Given the description of an element on the screen output the (x, y) to click on. 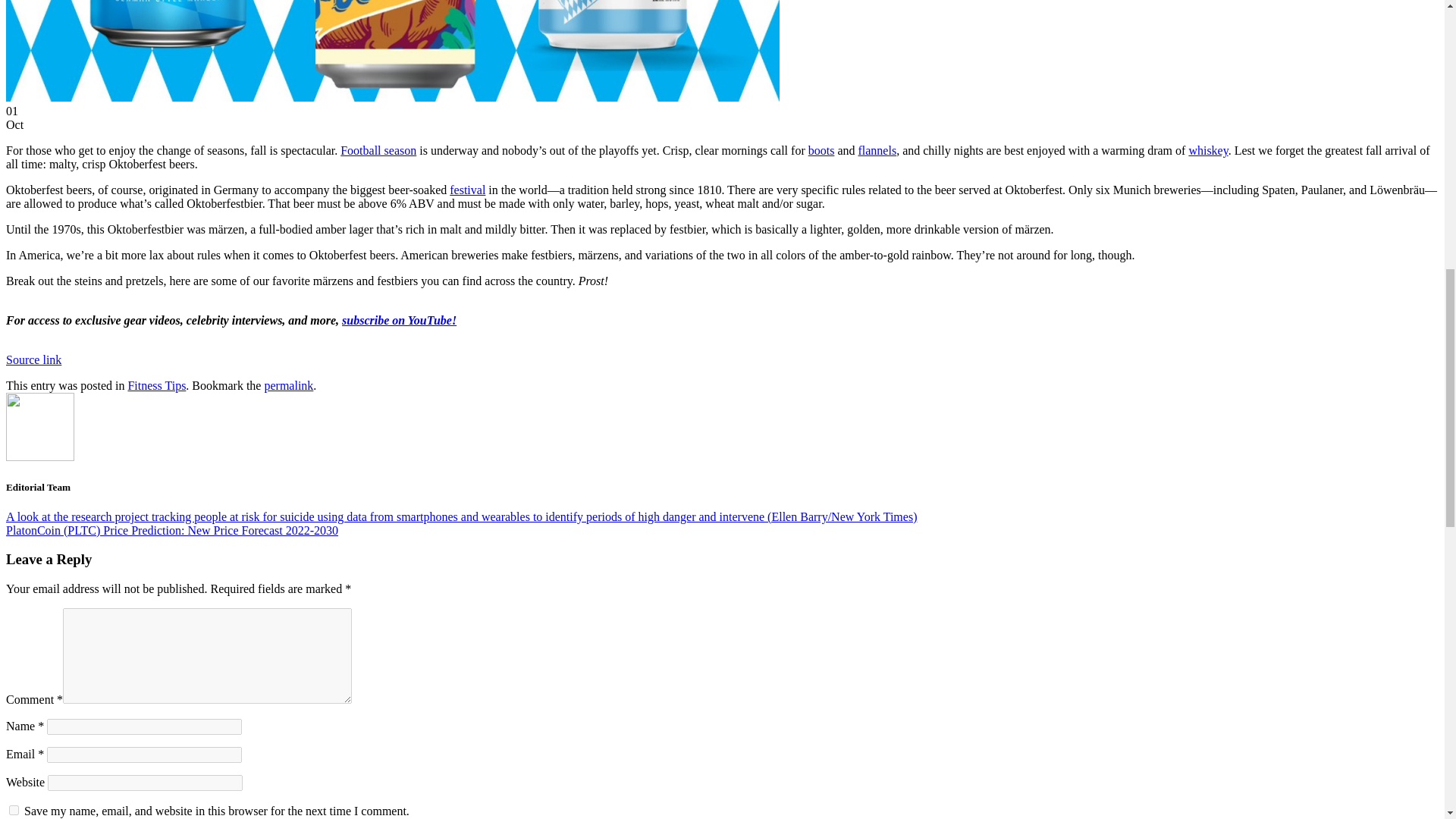
Source link (33, 359)
flannels (876, 150)
subscribe on YouTube! (399, 319)
Fitness Tips (157, 385)
whiskey (1207, 150)
Football season (378, 150)
permalink (288, 385)
yes (13, 809)
festival (466, 189)
boots (821, 150)
